Given the description of an element on the screen output the (x, y) to click on. 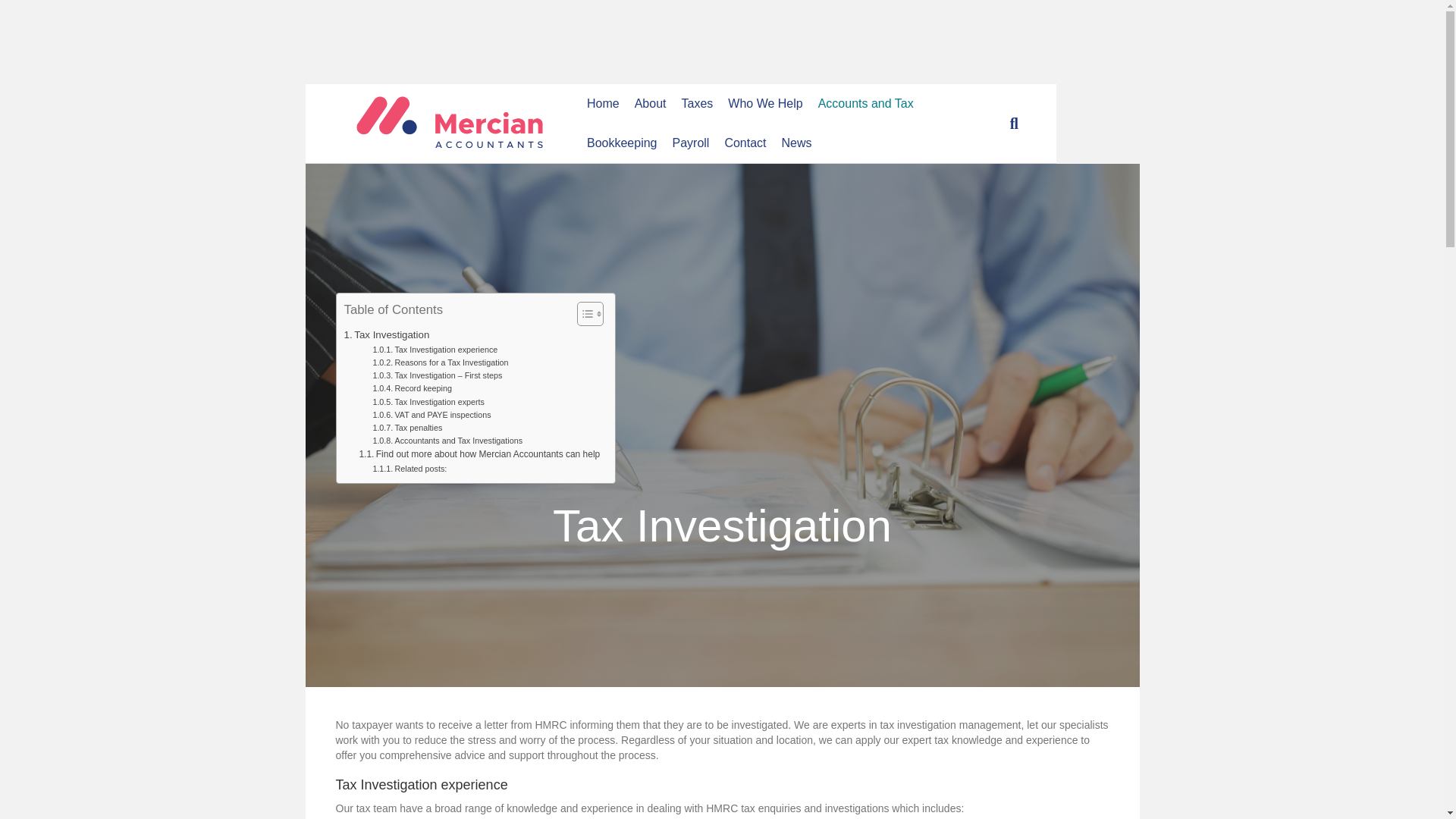
Who We Help (764, 103)
Tax penalties (407, 427)
Tax Investigation experience (434, 349)
About (650, 103)
Reasons for a Tax Investigation (440, 362)
Find out more about how Mercian Accountants can help (478, 454)
Related posts: (409, 468)
Home (603, 103)
Accountants and Tax Investigations (447, 440)
Tax Investigation experts (428, 401)
VAT and PAYE inspections (431, 414)
Taxes (386, 334)
Record keeping (696, 103)
